Given the description of an element on the screen output the (x, y) to click on. 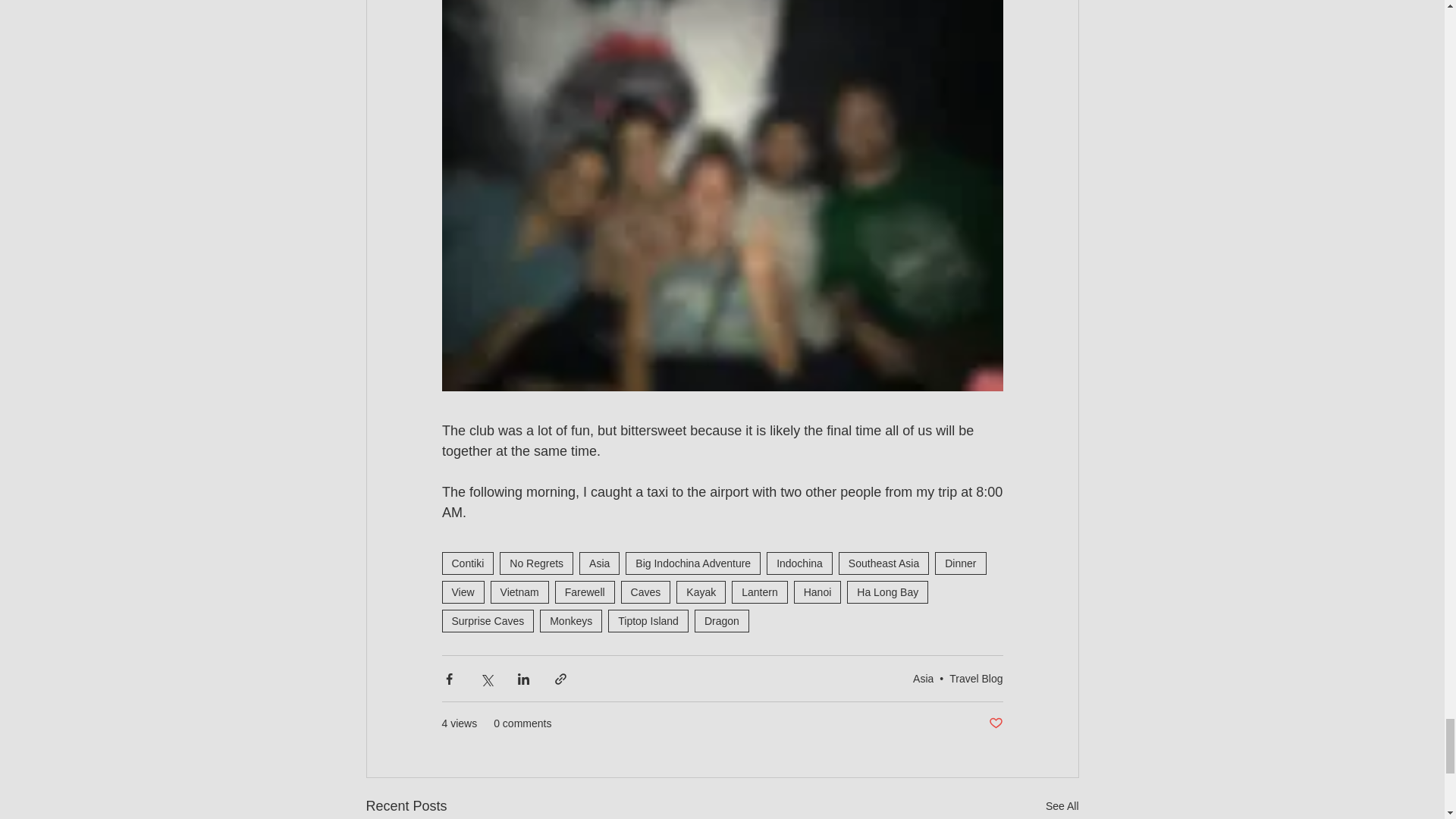
Farewell (584, 591)
Southeast Asia (883, 563)
Lantern (759, 591)
Monkeys (571, 620)
Kayak (701, 591)
Contiki (467, 563)
Ha Long Bay (887, 591)
No Regrets (536, 563)
Indochina (799, 563)
Hanoi (817, 591)
